Given the description of an element on the screen output the (x, y) to click on. 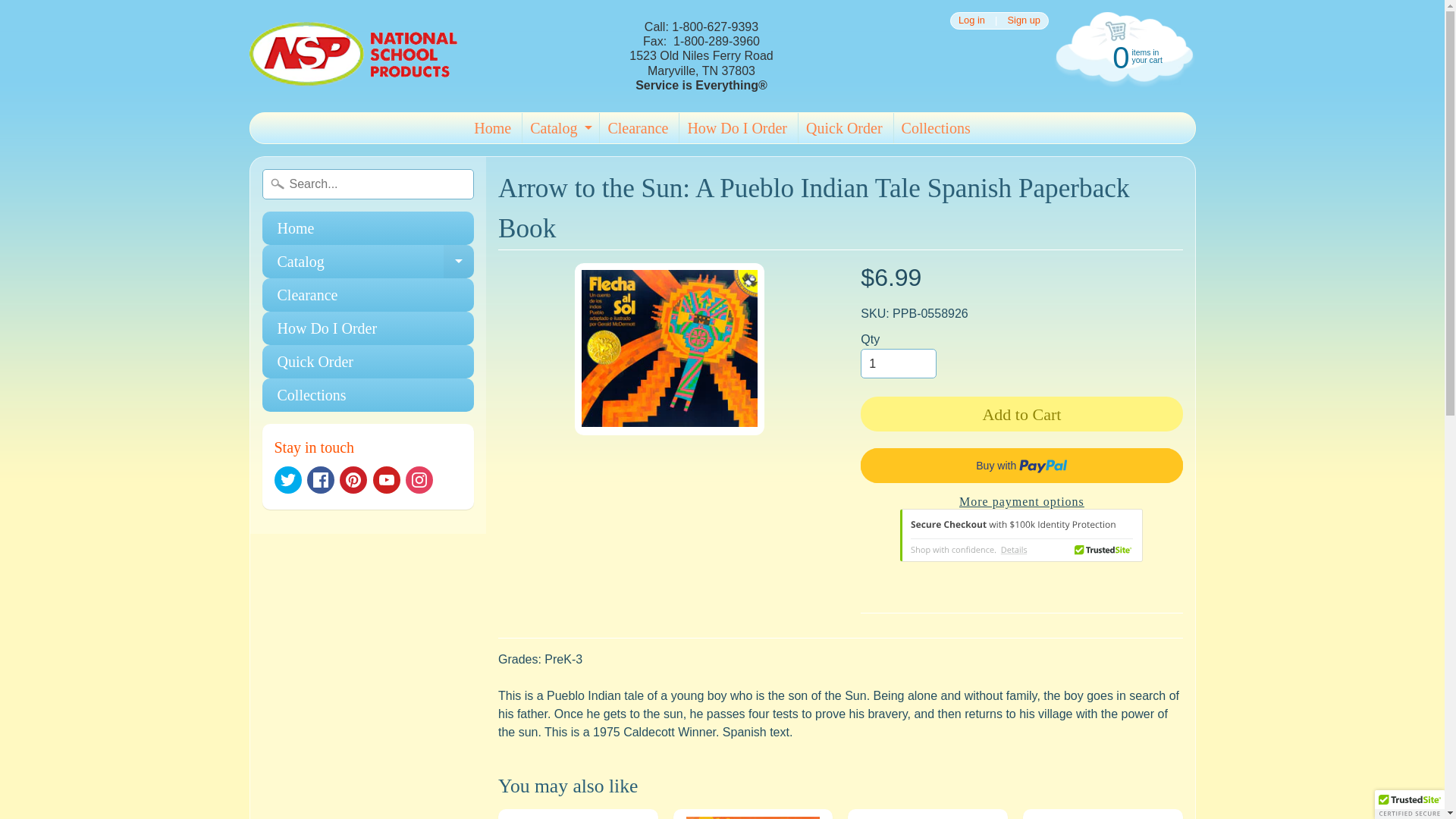
Facebook (320, 479)
Log in (970, 20)
Twitter (288, 479)
Instagram (419, 479)
National School Products (558, 128)
Home (368, 261)
26 Letters and 99 Cents (352, 56)
TrustedSite Certified (368, 227)
Collections (1102, 814)
How Do I Order (1020, 534)
Sign up (1122, 56)
More payment options (935, 128)
